Given the description of an element on the screen output the (x, y) to click on. 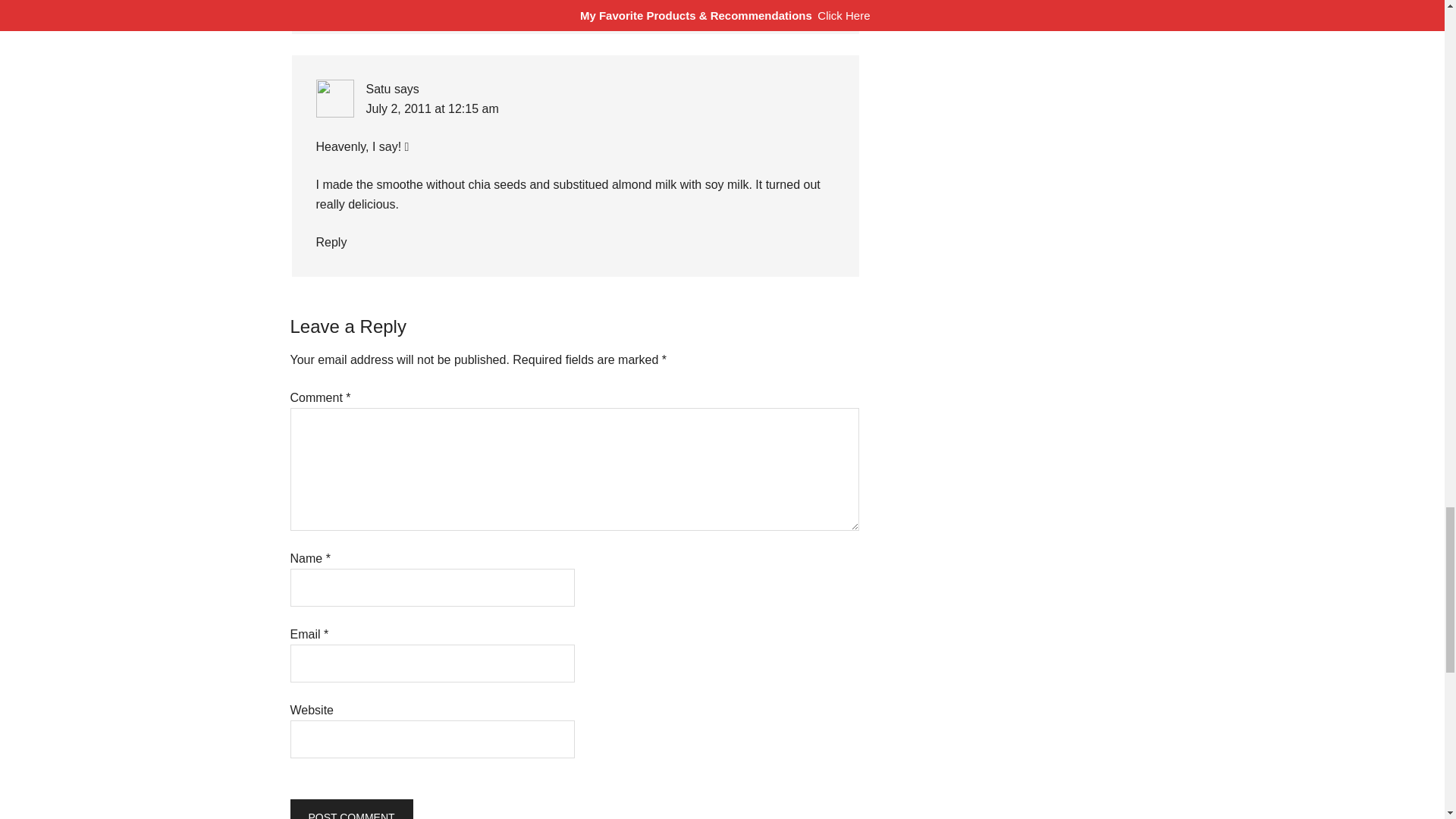
July 2, 2011 at 12:15 am (431, 108)
Post Comment (350, 809)
Reply (330, 2)
Satu (377, 88)
Reply (330, 241)
Post Comment (350, 809)
